Given the description of an element on the screen output the (x, y) to click on. 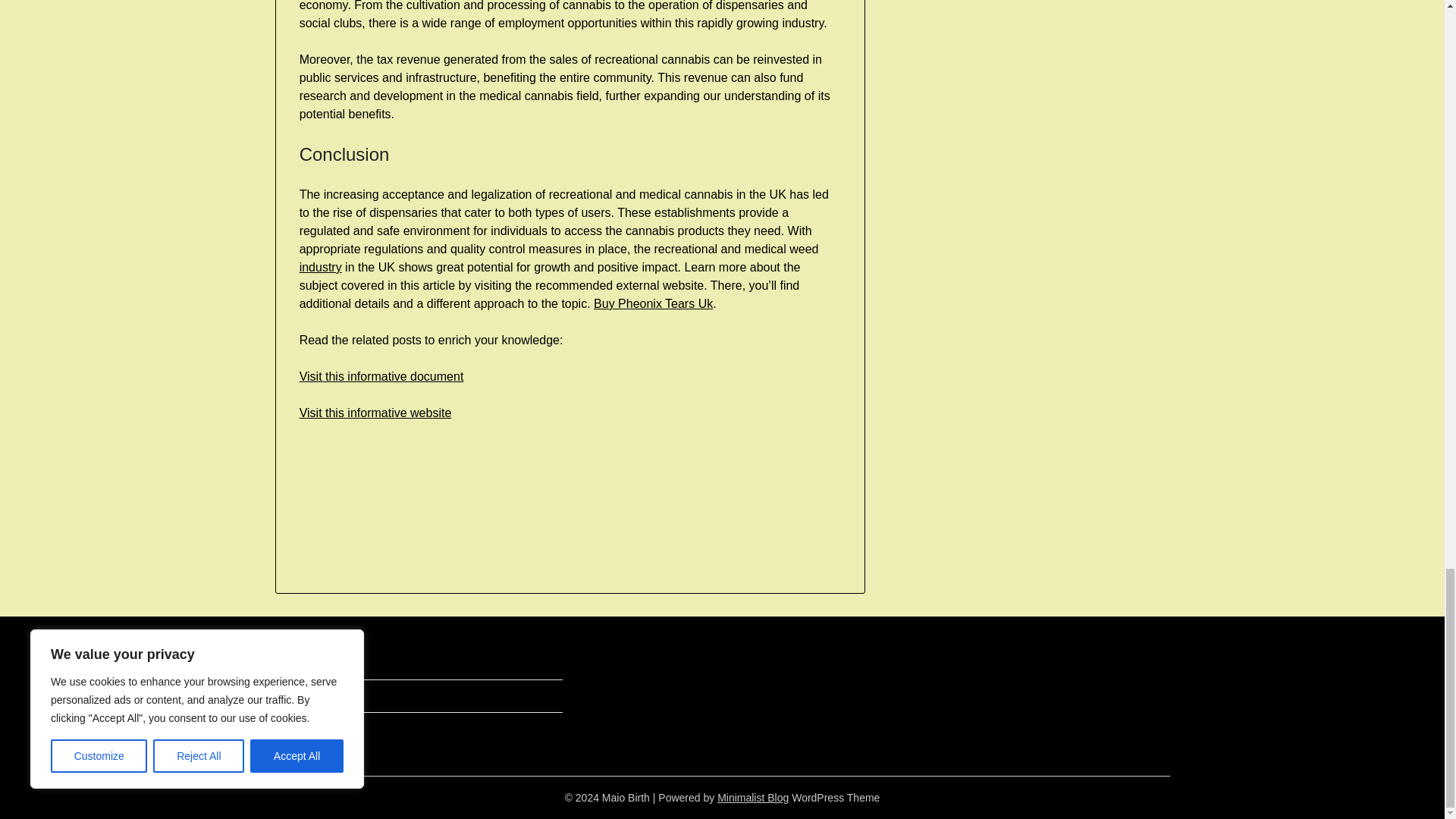
industry (320, 267)
Visit this informative website (375, 412)
Buy Pheonix Tears Uk (653, 303)
Visit this informative document (381, 376)
